Given the description of an element on the screen output the (x, y) to click on. 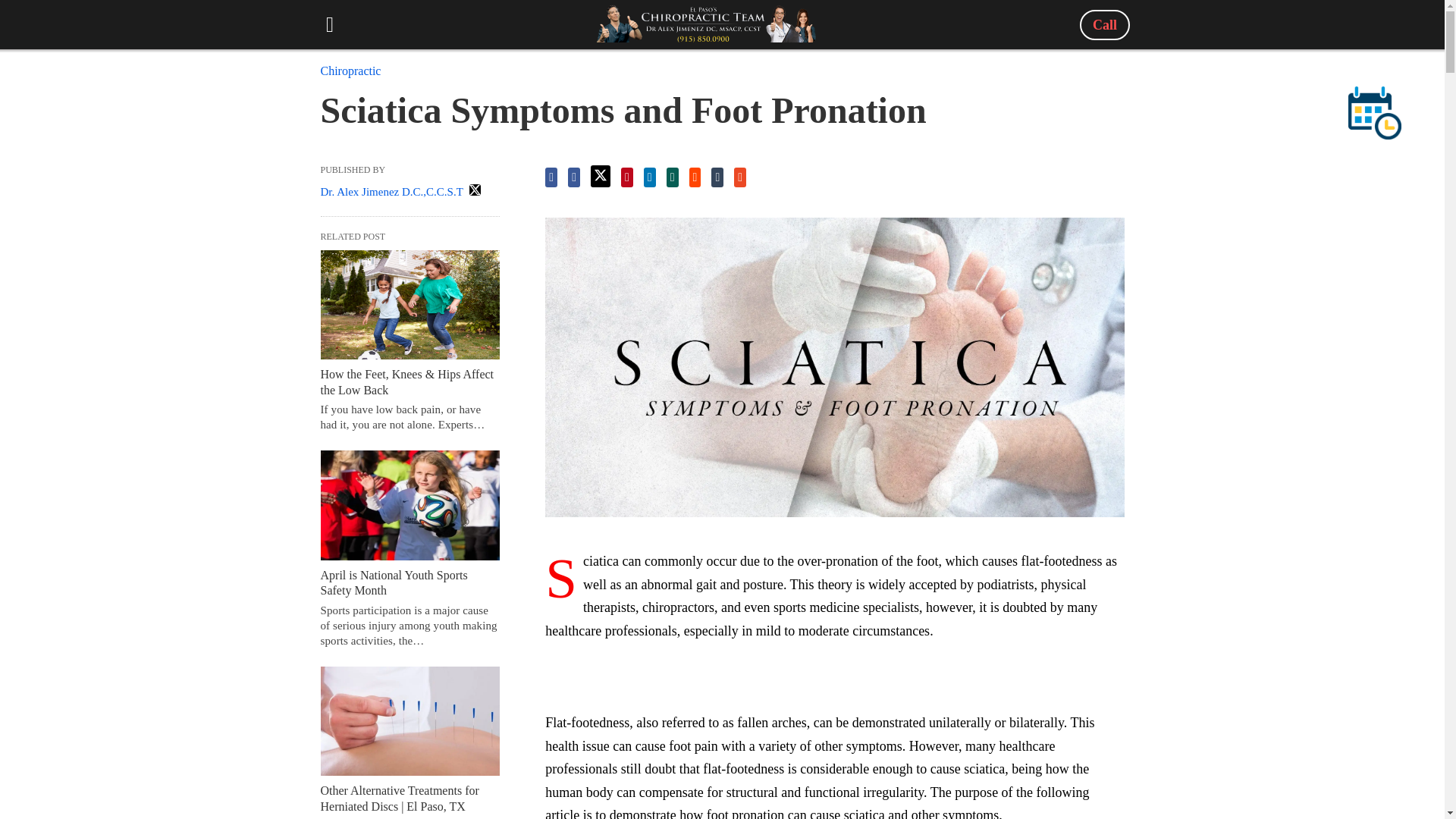
Chiropractic (350, 70)
Dr. Alex Jimenez D.C.,C.C.S.T (391, 191)
El Paso, TX Doctor Of Chiropractic (706, 23)
